Given the description of an element on the screen output the (x, y) to click on. 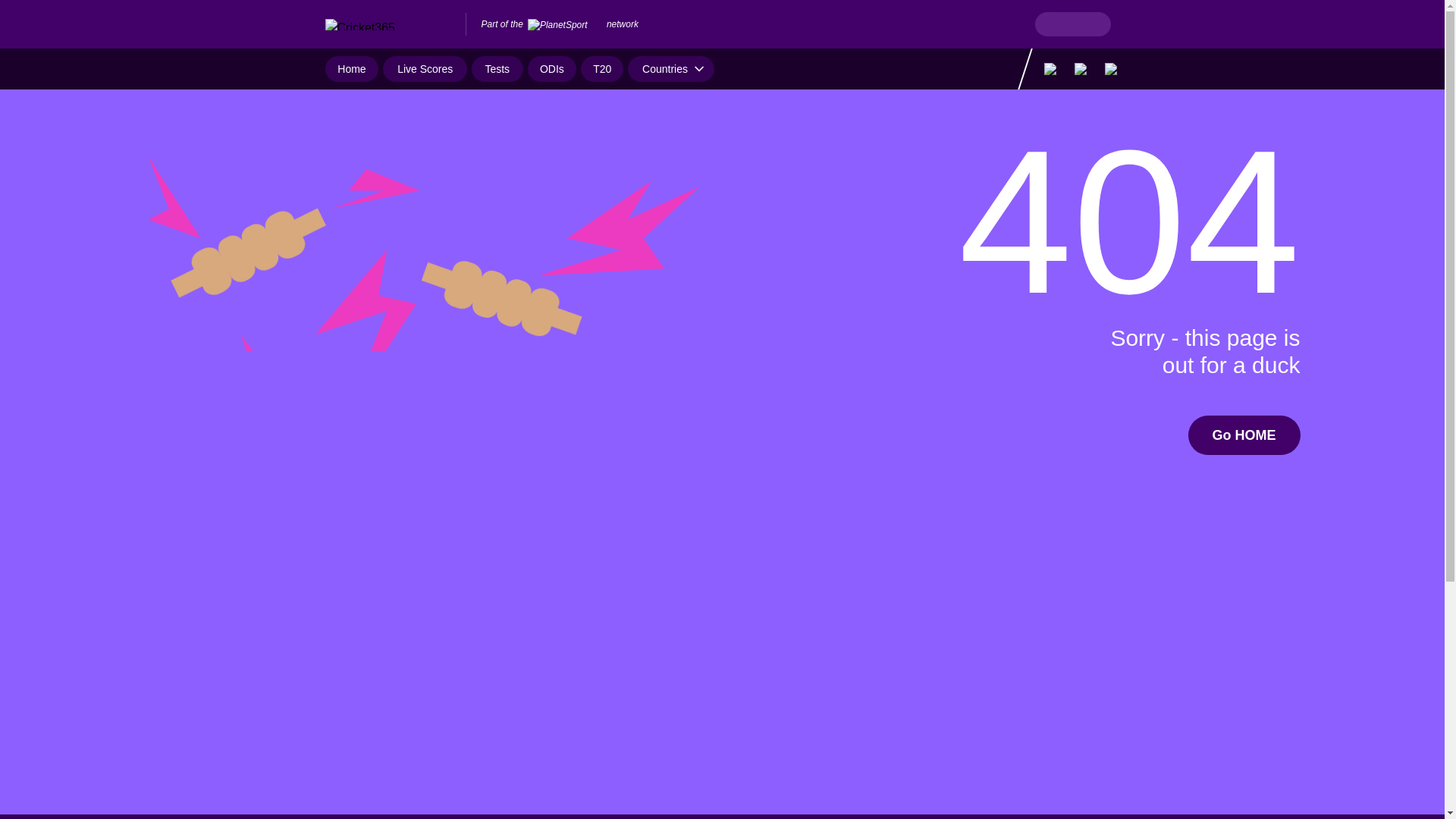
Tests (496, 68)
Go HOME (1244, 435)
Home (351, 68)
T20 (601, 68)
Countries (670, 68)
ODIs (551, 68)
Live Scores (424, 68)
